Given the description of an element on the screen output the (x, y) to click on. 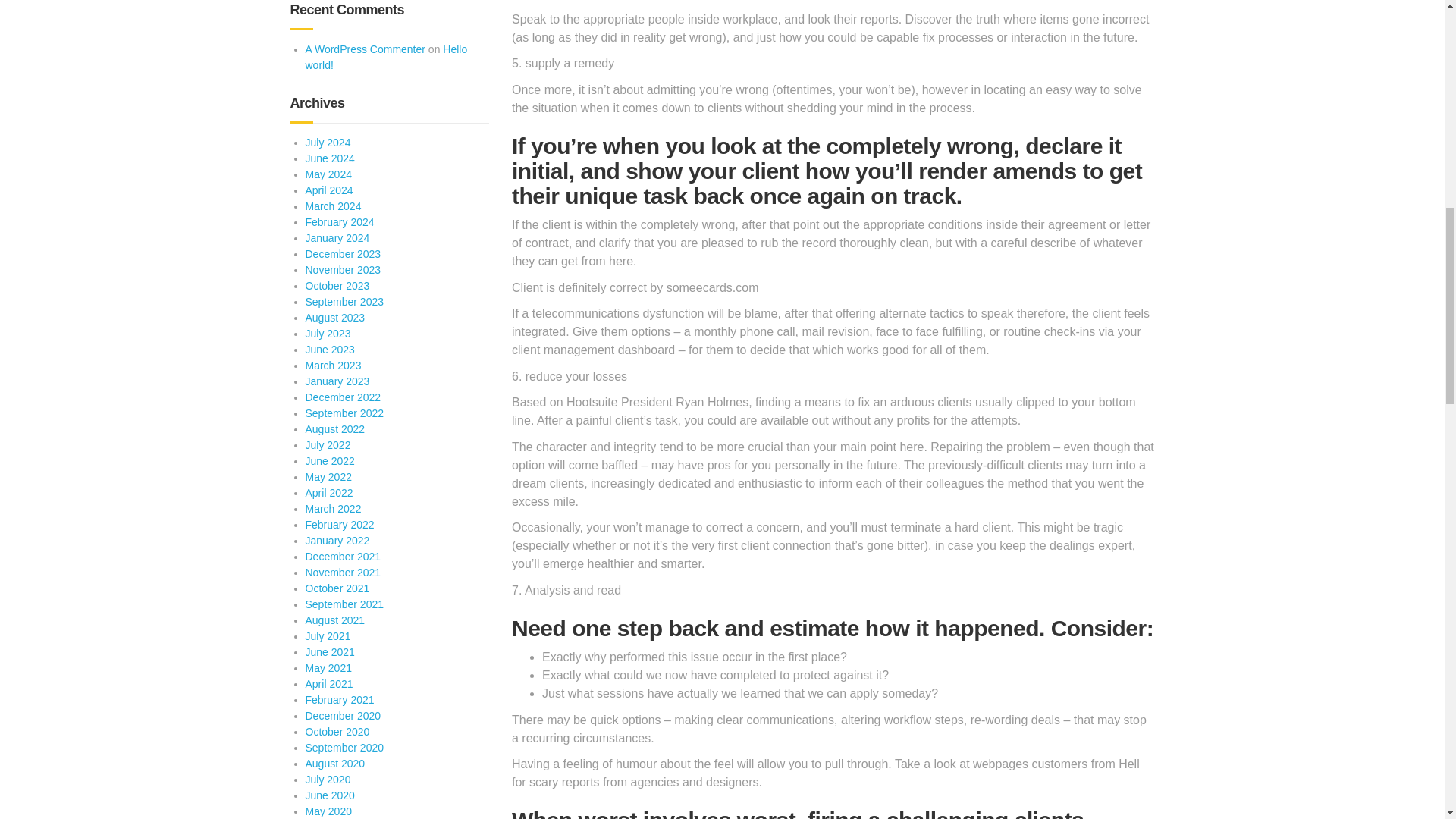
June 2024 (328, 158)
October 2023 (336, 285)
May 2024 (327, 174)
March 2024 (332, 205)
February 2024 (339, 222)
December 2023 (342, 254)
November 2023 (342, 269)
July 2024 (327, 142)
January 2024 (336, 237)
Hello world! (385, 57)
April 2024 (328, 190)
A WordPress Commenter (364, 49)
